Given the description of an element on the screen output the (x, y) to click on. 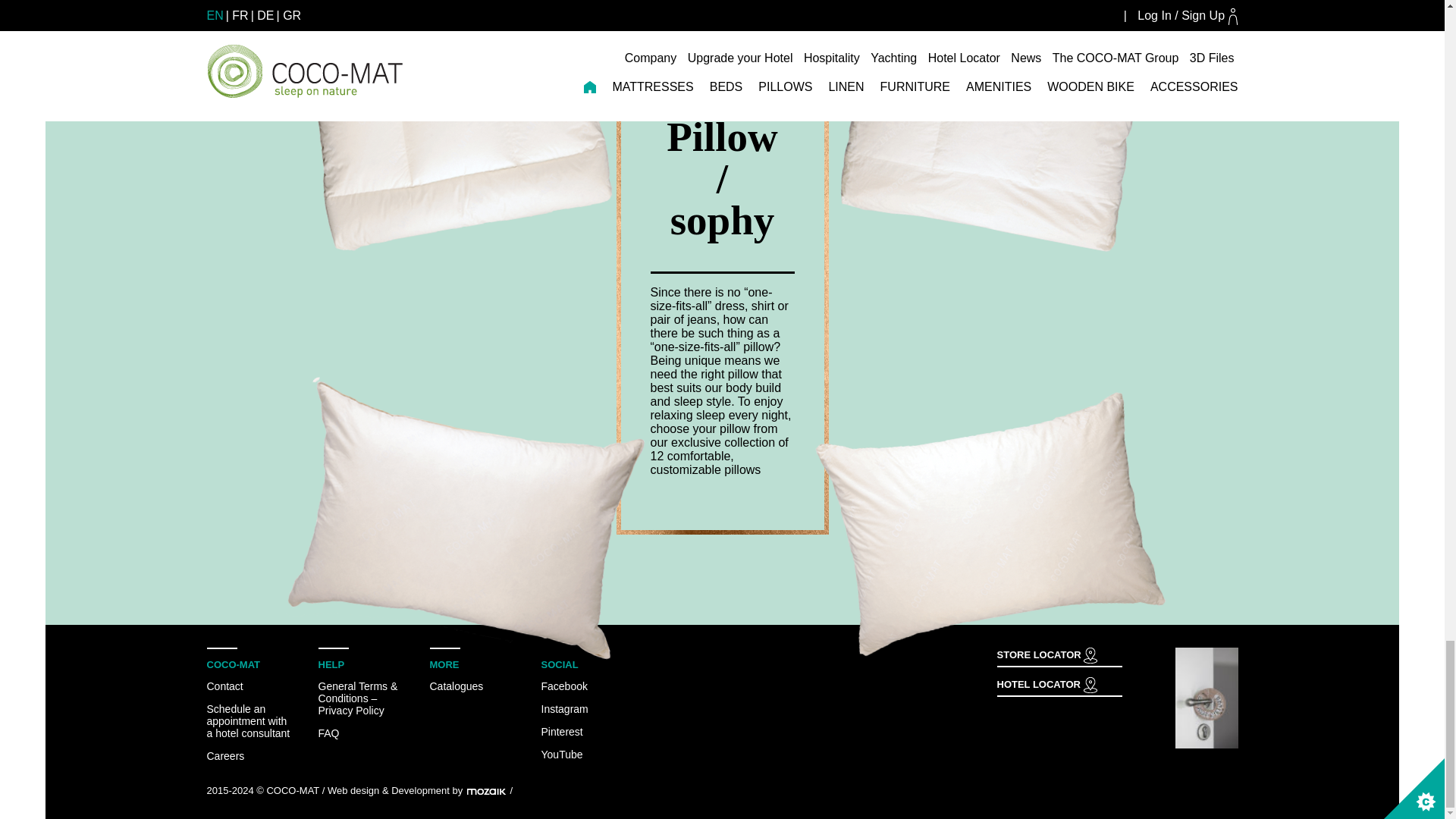
Mozaik (488, 790)
